Given the description of an element on the screen output the (x, y) to click on. 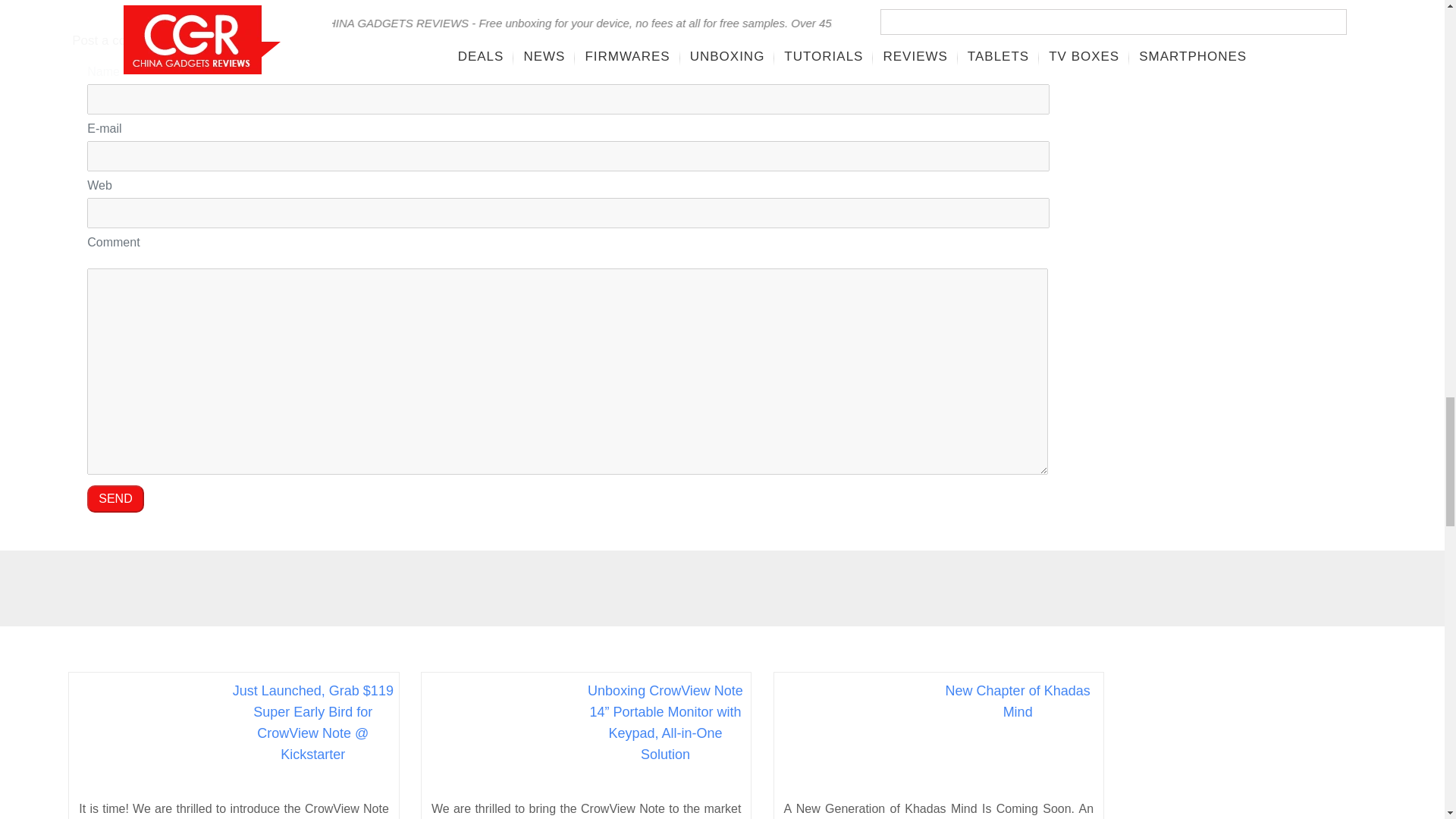
Advertisement (1260, 745)
SEND (114, 498)
SEND (114, 498)
New Chapter of Khadas Mind (1016, 701)
